Given the description of an element on the screen output the (x, y) to click on. 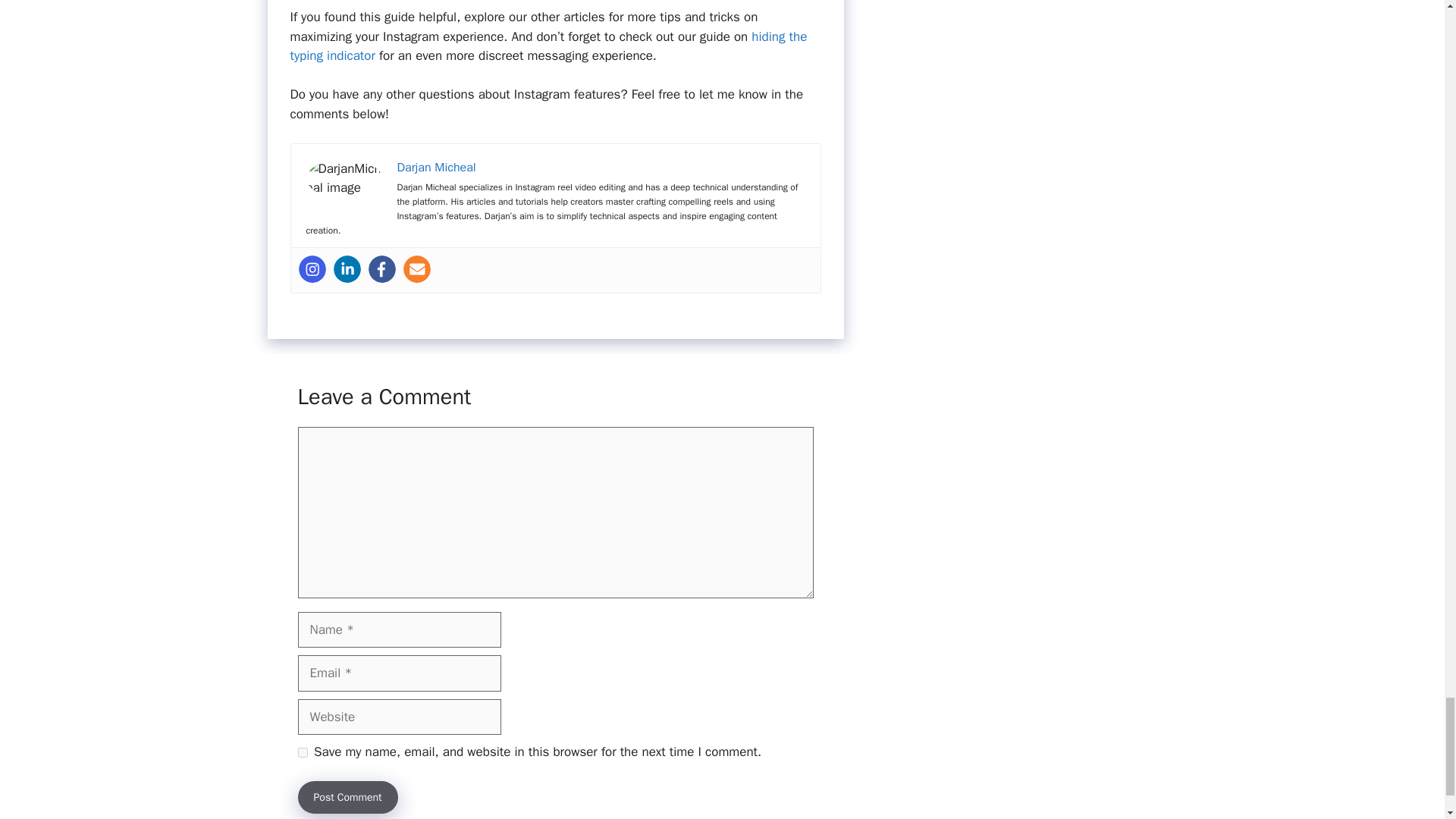
Darjan Micheal (436, 167)
hiding the typing indicator (547, 46)
User email (416, 268)
Instagram (312, 268)
Post Comment (347, 797)
Linkedin (347, 268)
Facebook (382, 268)
yes (302, 752)
